Given the description of an element on the screen output the (x, y) to click on. 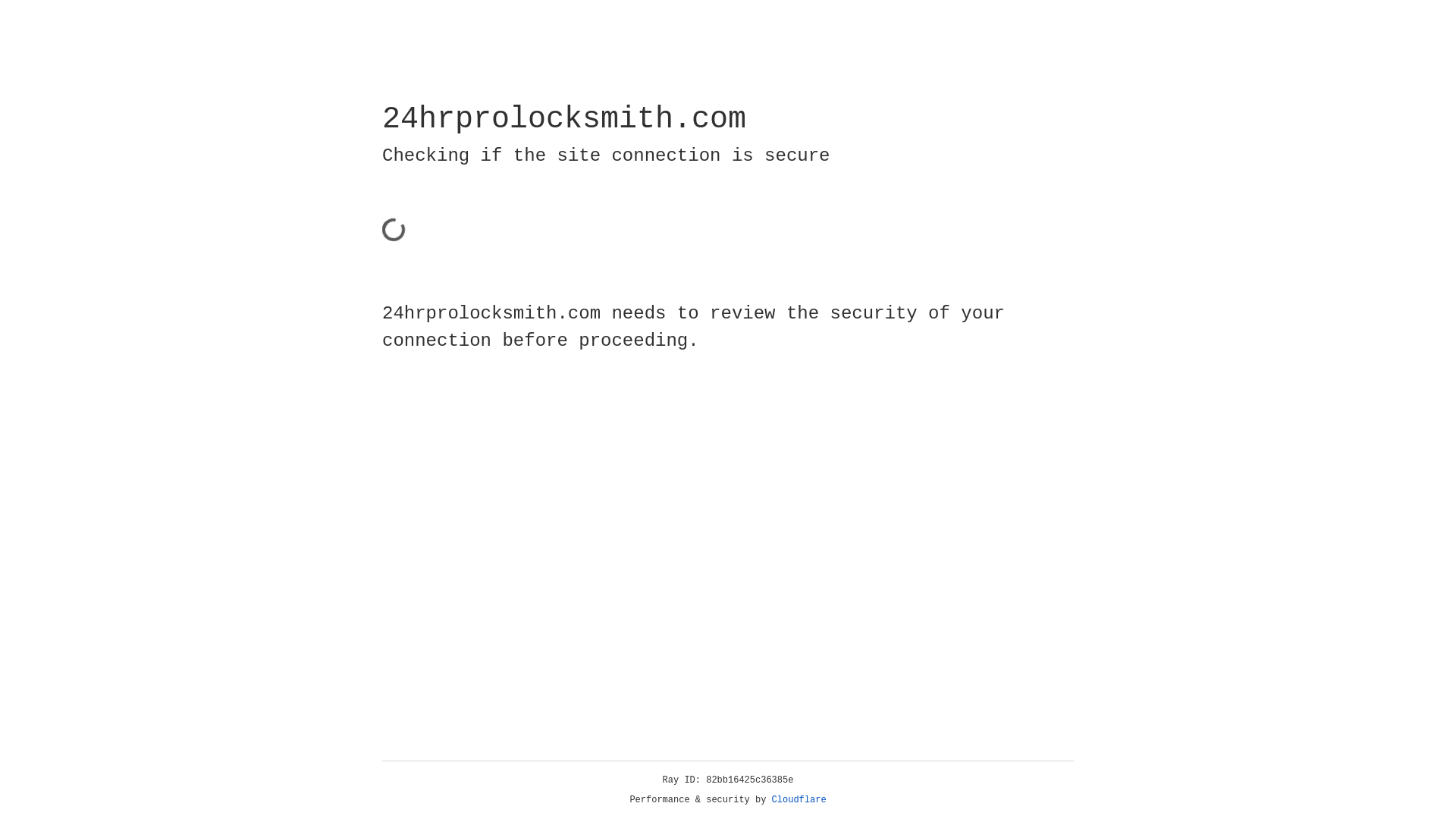
Cloudflare Element type: text (798, 799)
